Given the description of an element on the screen output the (x, y) to click on. 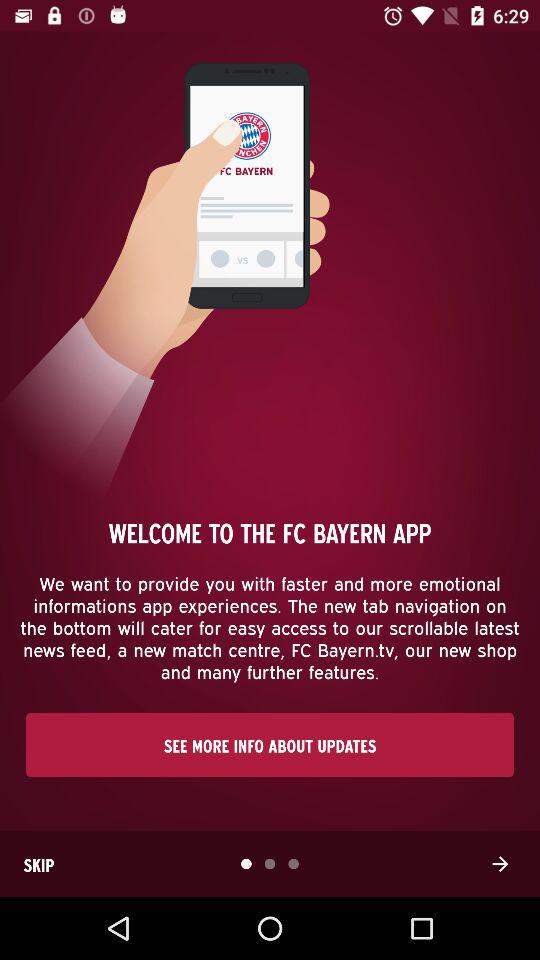
turn on the see more info item (269, 744)
